Given the description of an element on the screen output the (x, y) to click on. 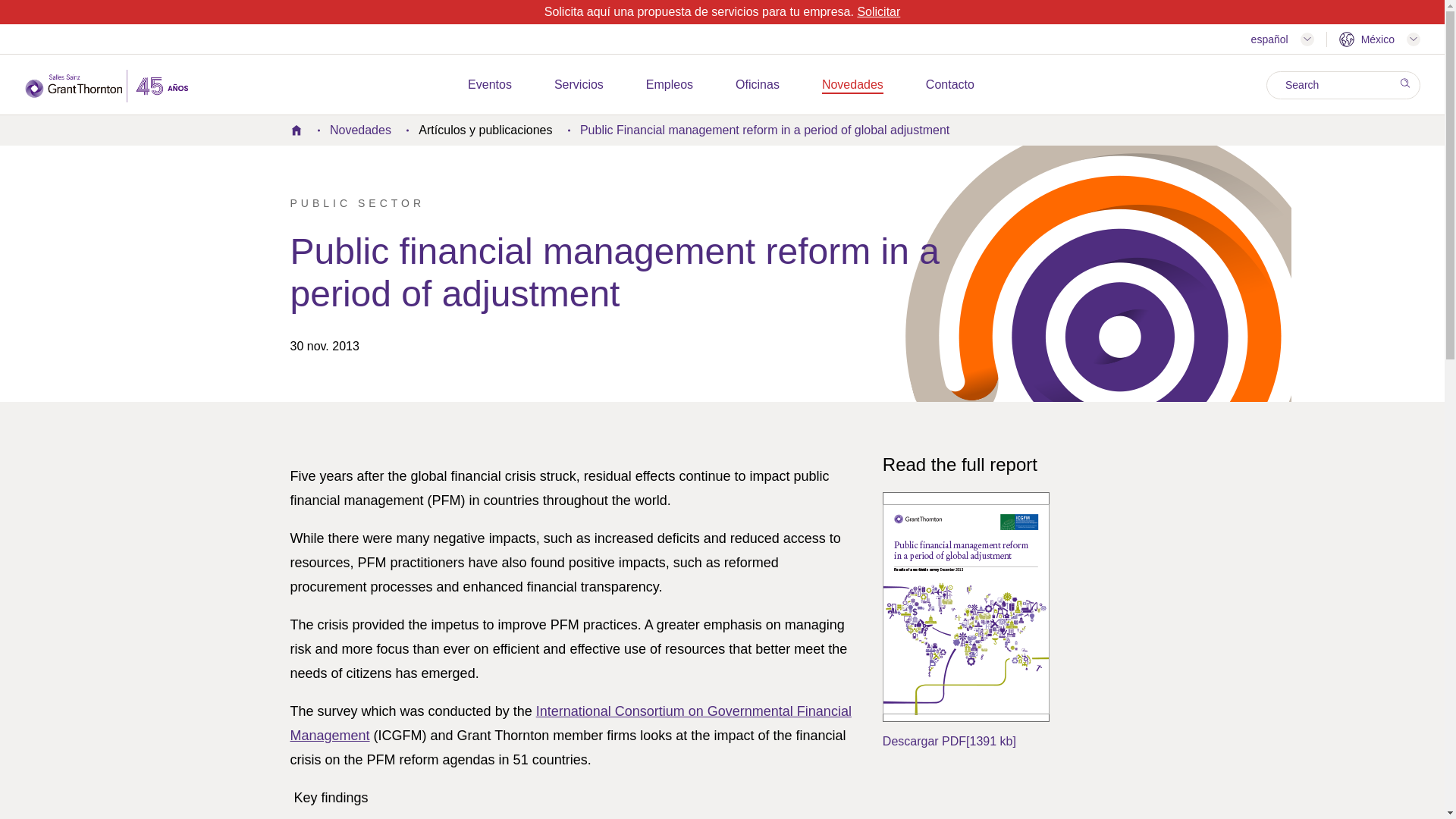
Oficinas (756, 85)
Novedades (852, 85)
Empleos (669, 85)
Solicitar (878, 11)
logo (105, 85)
Solicitar (878, 11)
Eventos (489, 85)
Contacto (950, 85)
Servicios (579, 85)
